Given the description of an element on the screen output the (x, y) to click on. 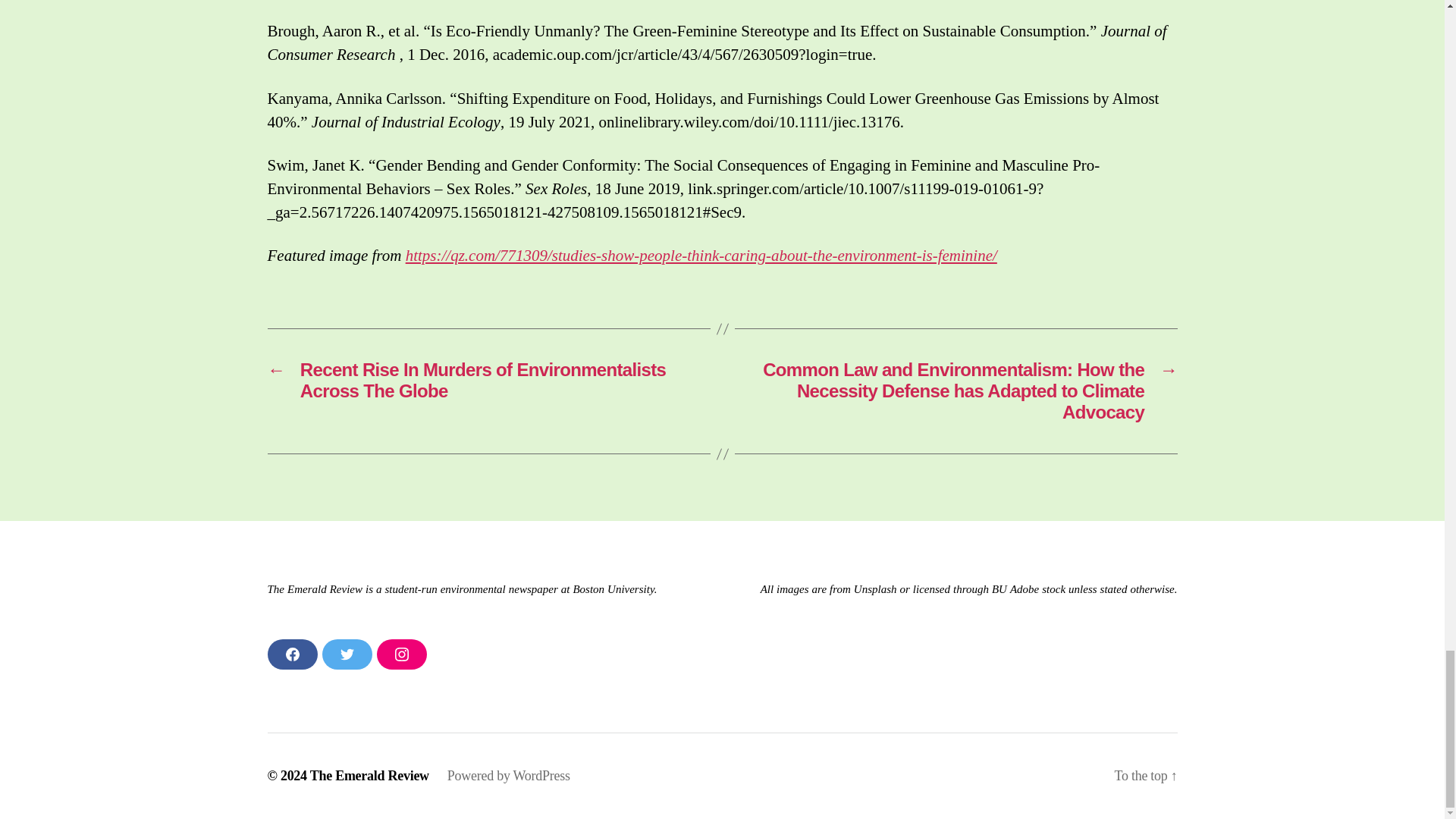
Twitter (346, 654)
INSTAGRAM (400, 654)
Powered by WordPress (508, 775)
Instagram (400, 654)
The Emerald Review (369, 775)
TWITTER (346, 654)
FACEBOOK (291, 654)
Facebook (291, 654)
